Given the description of an element on the screen output the (x, y) to click on. 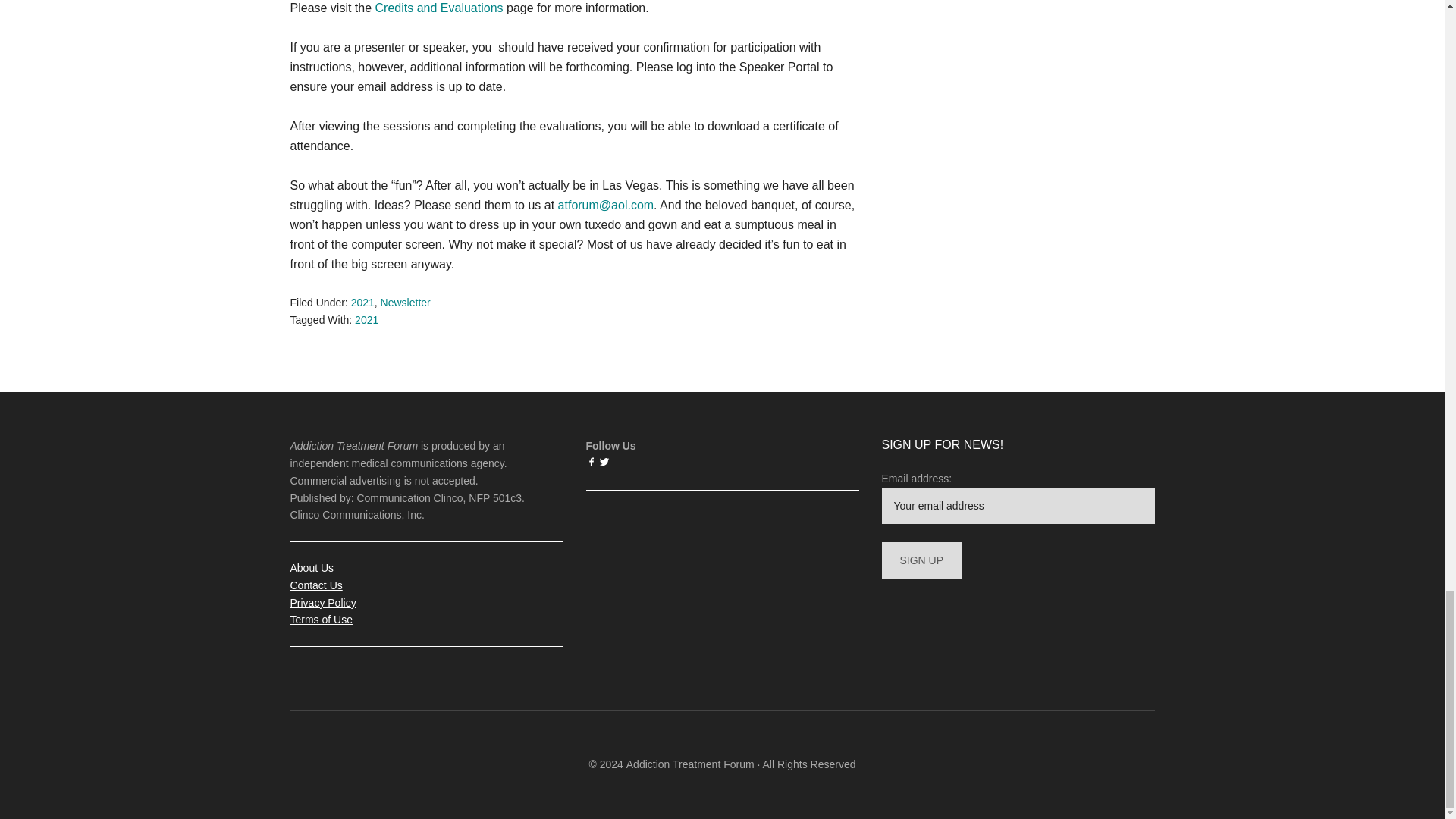
2021 (366, 319)
Newsletter (405, 302)
Sign up (920, 560)
Credits and Evaluations (439, 7)
2021 (362, 302)
